Given the description of an element on the screen output the (x, y) to click on. 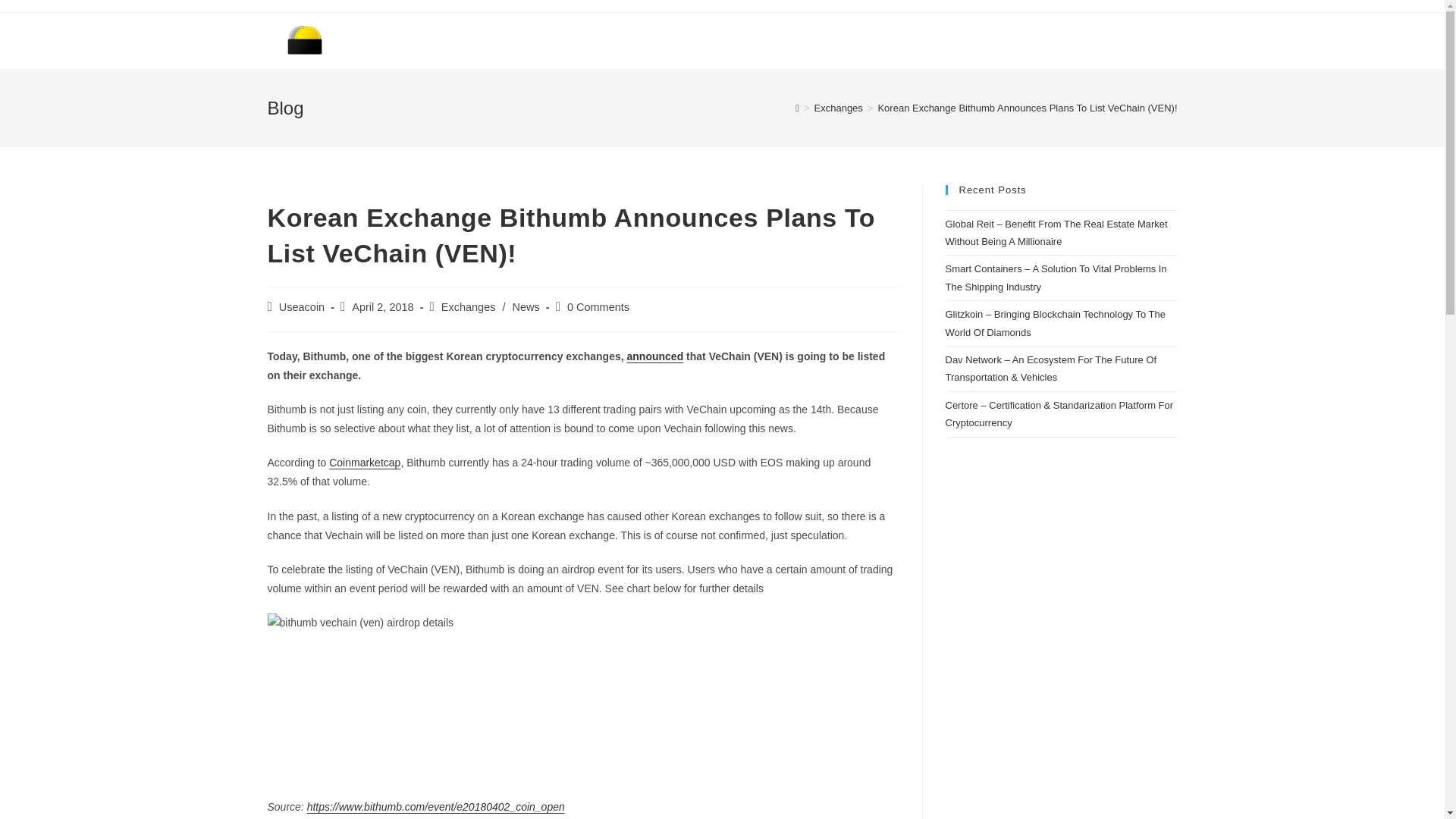
Exchanges (838, 107)
announced (655, 356)
Exchanges (468, 306)
Coinmarketcap (364, 462)
Posts by Useacoin (301, 306)
News (526, 306)
0 Comments (597, 306)
Useacoin (301, 306)
